Given the description of an element on the screen output the (x, y) to click on. 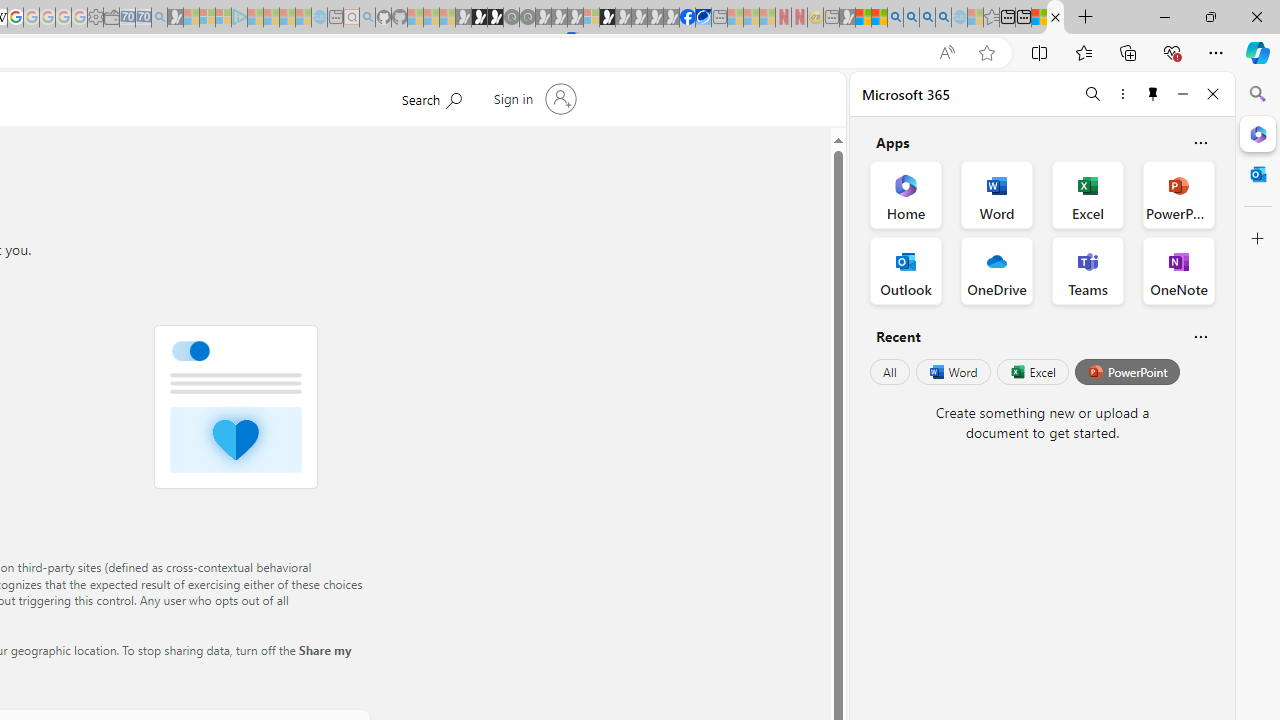
Outlook Office App (906, 270)
Microsoft account | Privacy - Sleeping (223, 17)
Word Office App (996, 194)
Sign in to your account (532, 98)
Bing Real Estate - Home sales and rental listings - Sleeping (159, 17)
New tab - Sleeping (831, 17)
2009 Bing officially replaced Live Search on June 3 - Search (911, 17)
PowerPoint Office App (1178, 194)
AirNow.gov (703, 17)
Unpin side pane (1153, 93)
